Given the description of an element on the screen output the (x, y) to click on. 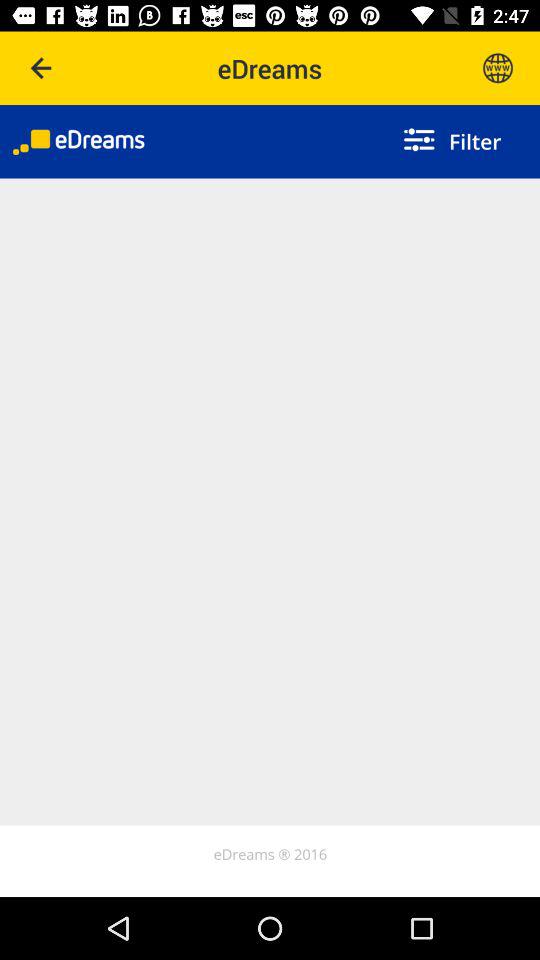
icon button (498, 68)
